Given the description of an element on the screen output the (x, y) to click on. 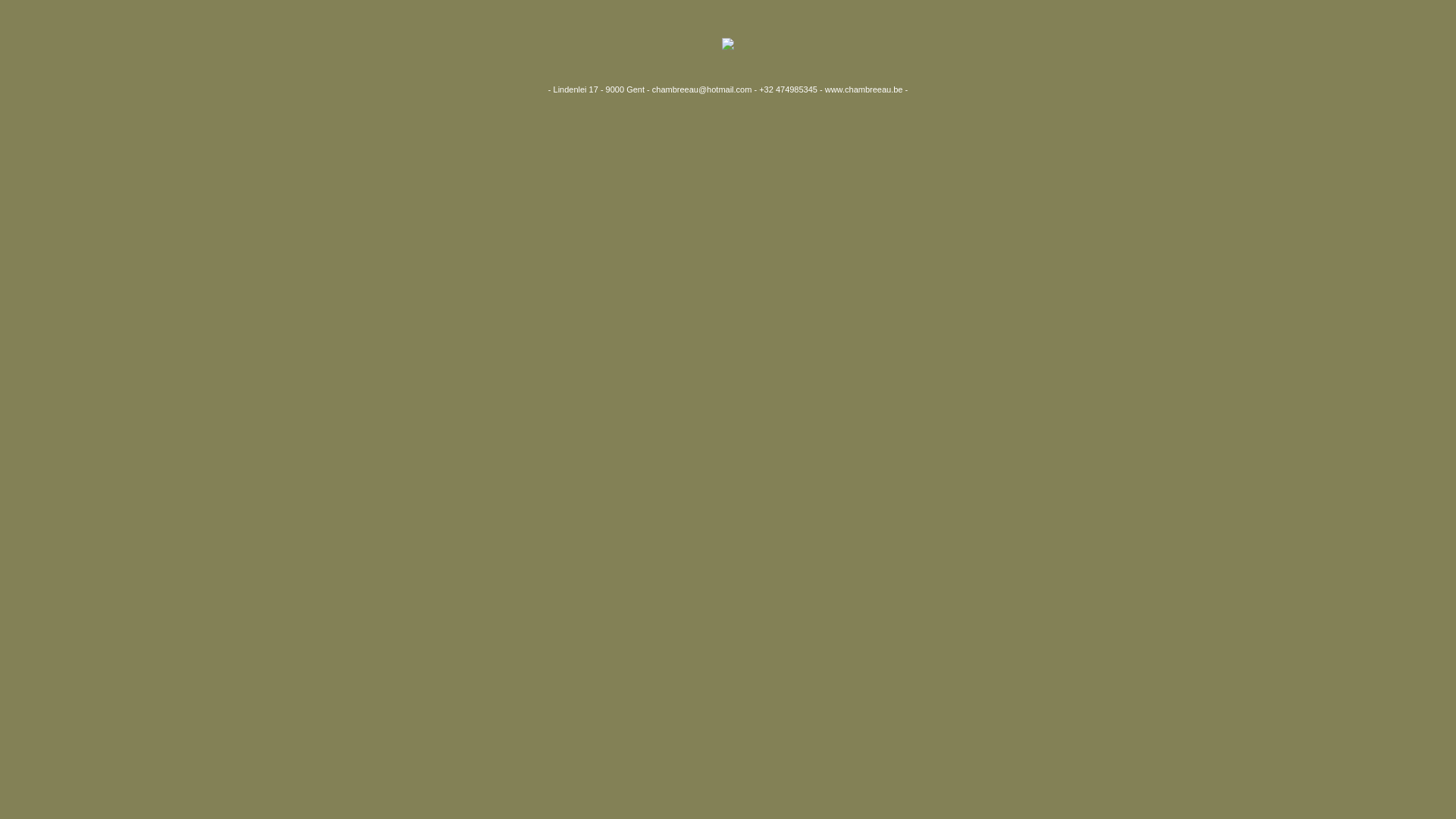
chambreeau@hotmail.com Element type: text (702, 89)
